Given the description of an element on the screen output the (x, y) to click on. 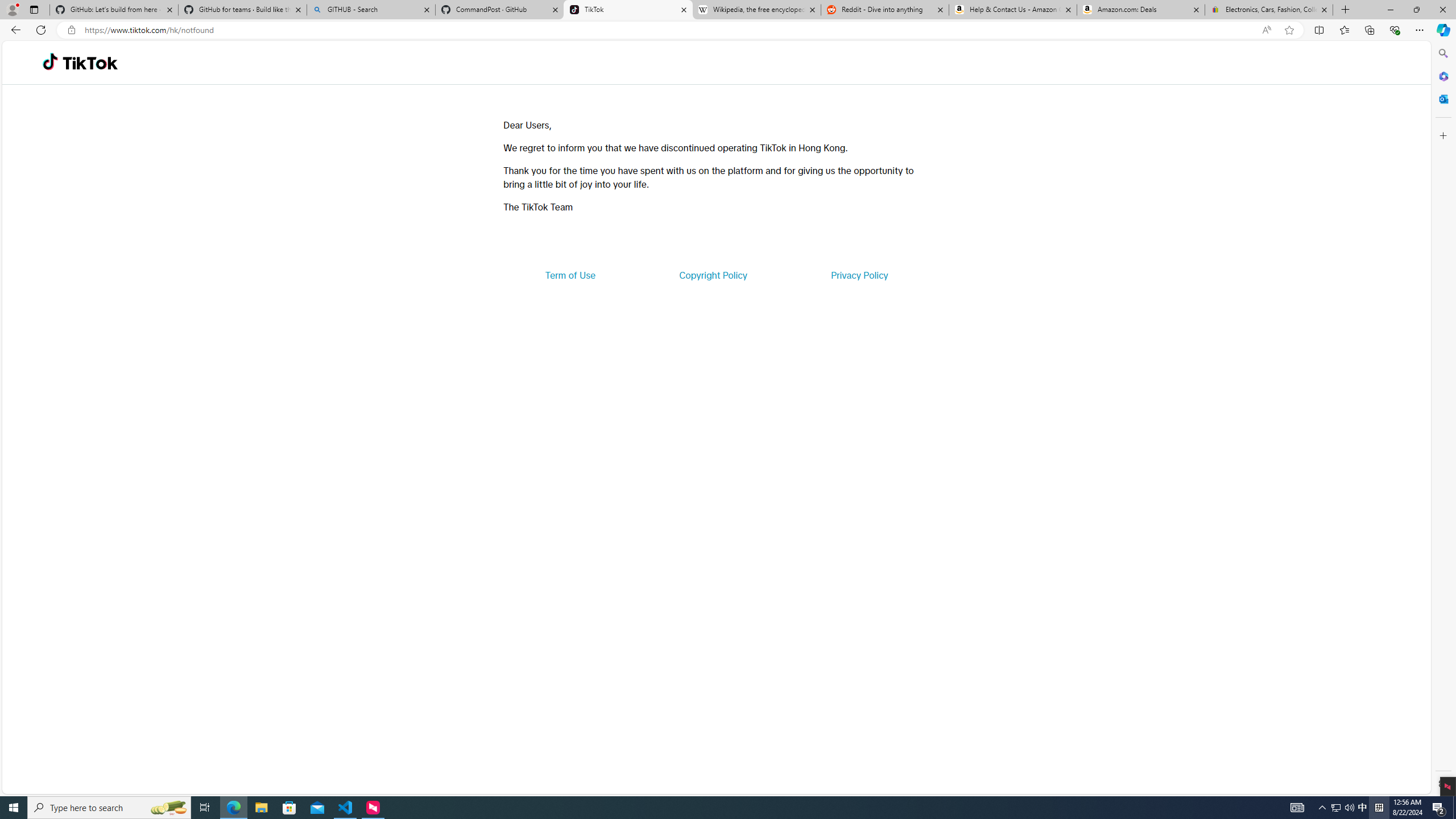
Reddit - Dive into anything (884, 9)
Wikipedia, the free encyclopedia (756, 9)
